Given the description of an element on the screen output the (x, y) to click on. 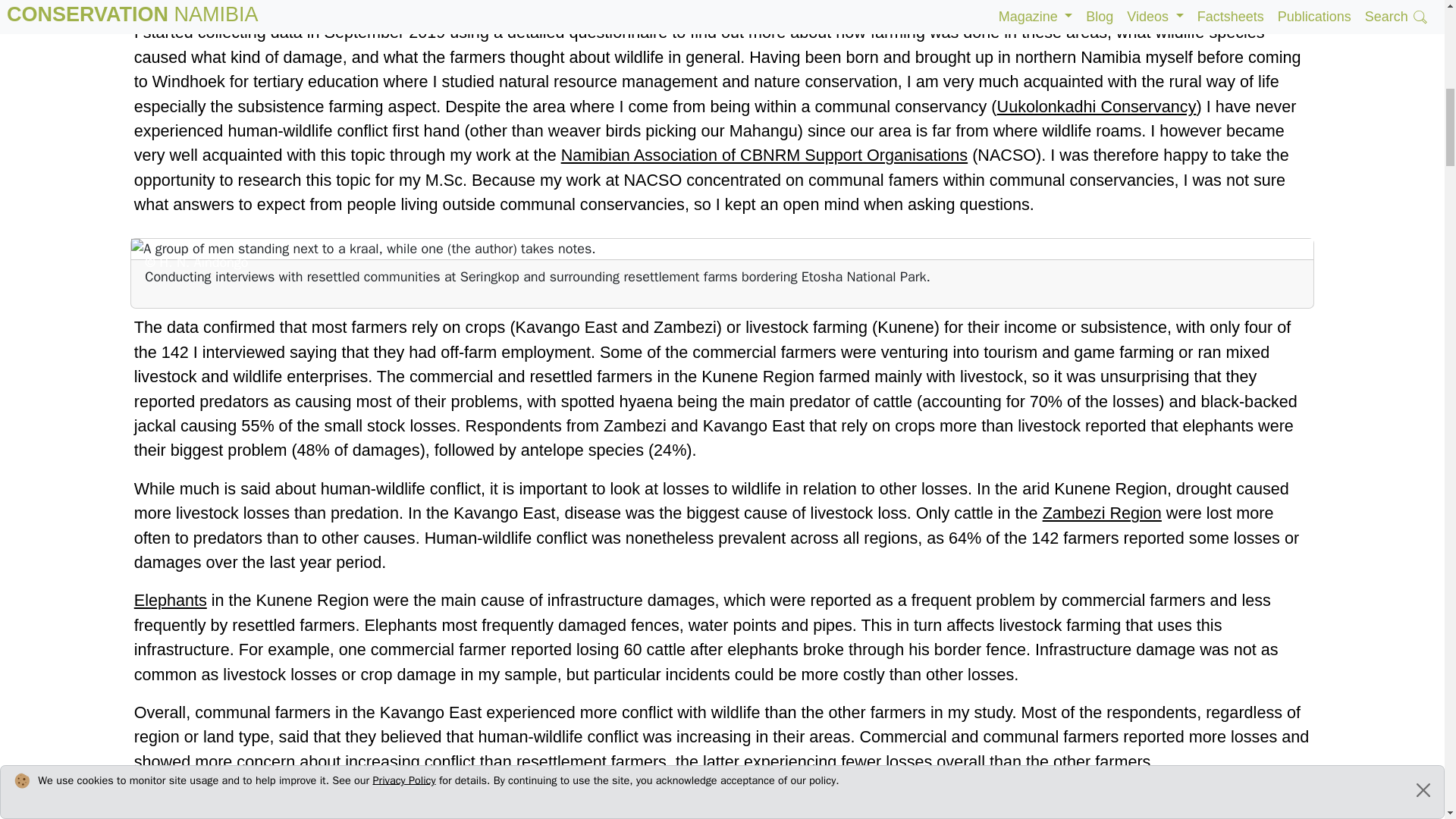
Uukolonkadhi Conservancy (1096, 106)
Zambezi Region (1101, 512)
Namibian Association of CBNRM Support Organisations (764, 154)
Elephants (169, 599)
